Given the description of an element on the screen output the (x, y) to click on. 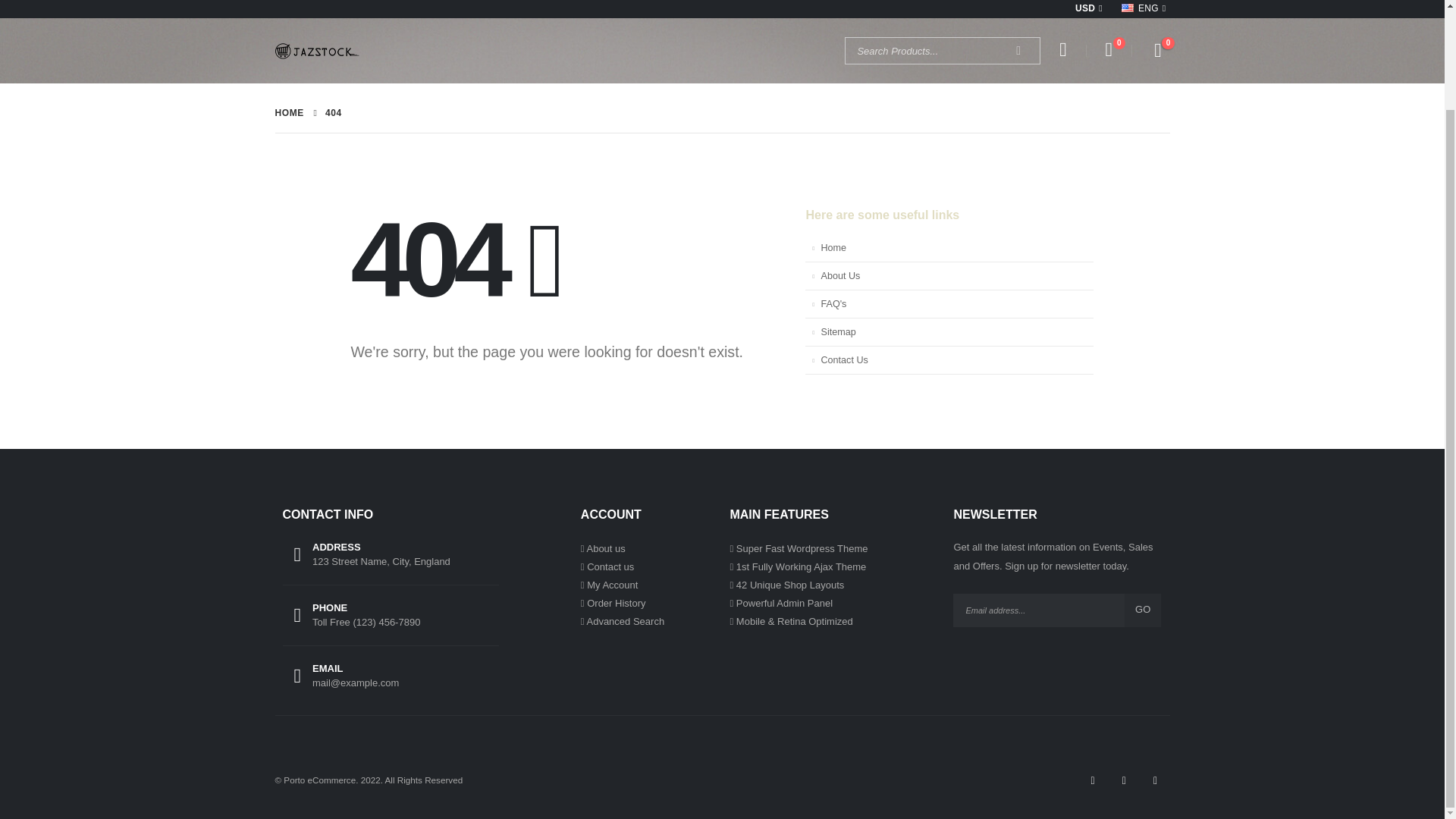
Super Fast Wordpress Theme (801, 548)
Go to Home Page (288, 113)
jazstock -  (316, 50)
Contact Us (609, 566)
1st Fully Working Ajax Theme (801, 566)
Linkedin (1154, 780)
GO (1142, 610)
Advanced Search (624, 621)
My Account (1062, 50)
About us (605, 548)
My Account (611, 584)
Powerful Admin Panel (784, 603)
Order History (615, 603)
Search (1018, 50)
Facebook (1092, 780)
